Given the description of an element on the screen output the (x, y) to click on. 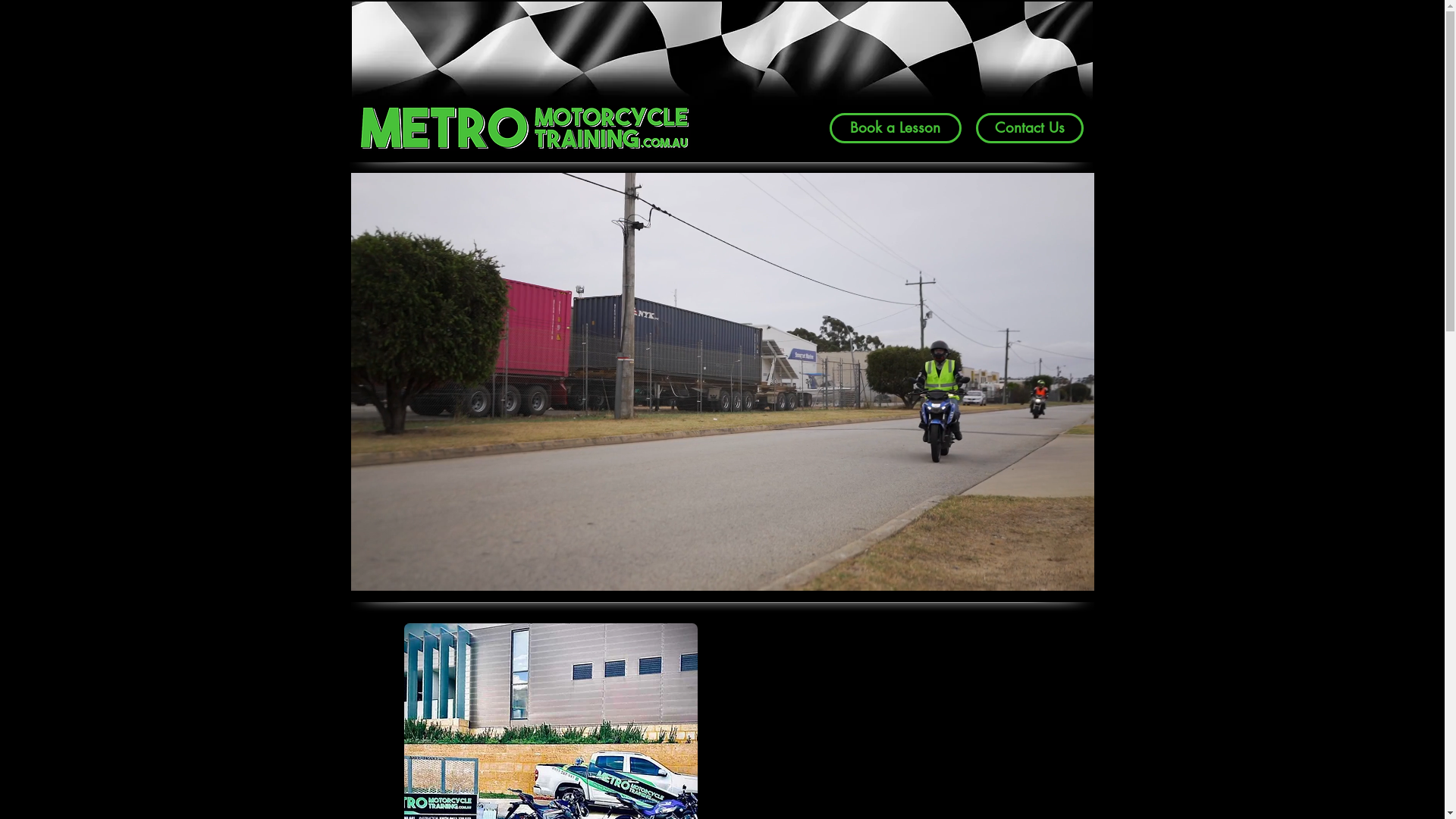
checkeredflagwallpaper - topbanner.jpg Element type: hover (721, 66)
Contact Us Element type: text (1028, 127)
Book a Lesson Element type: text (895, 127)
